Given the description of an element on the screen output the (x, y) to click on. 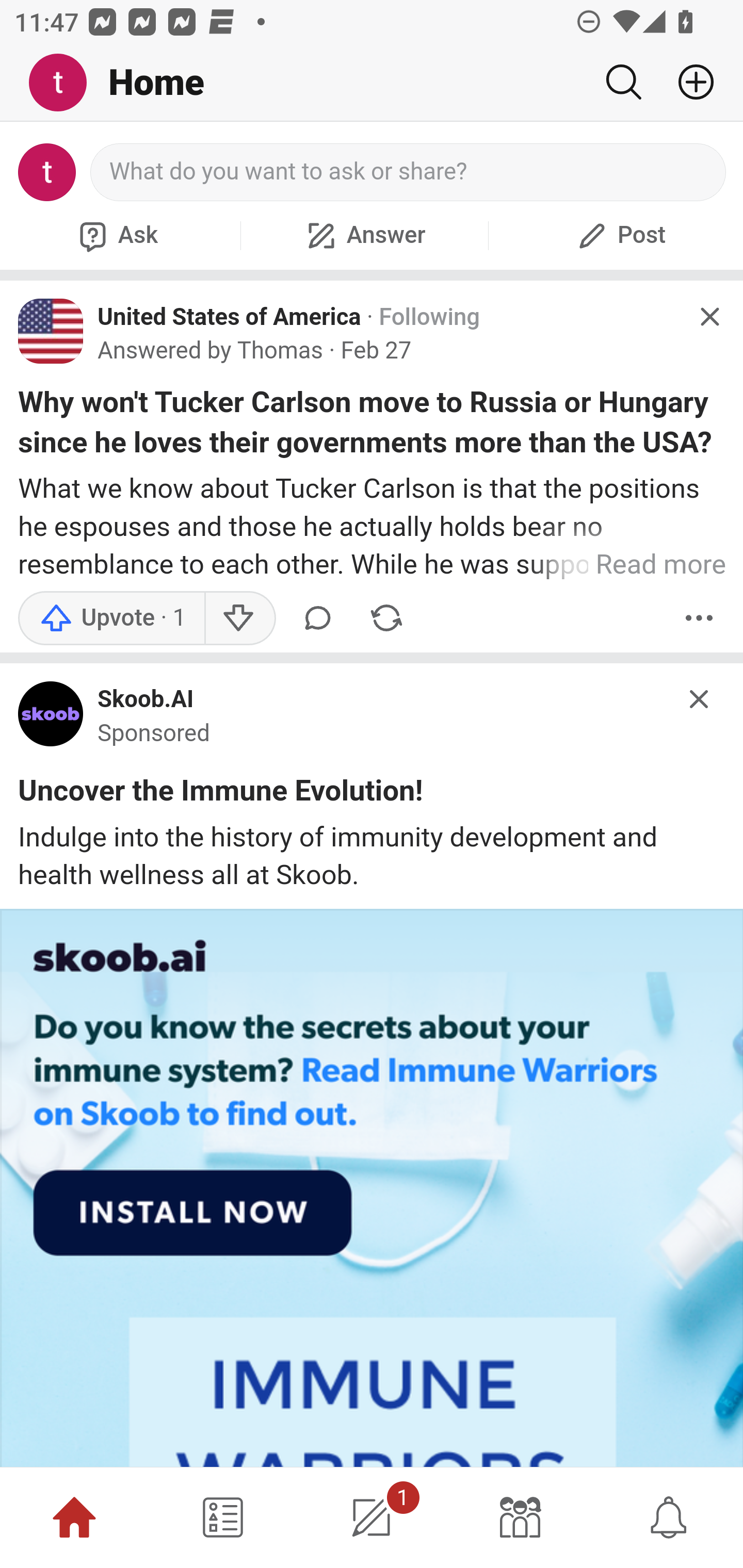
Me (64, 83)
Search (623, 82)
Add (688, 82)
What do you want to ask or share? (408, 172)
Ask (116, 234)
Answer (364, 234)
Post (618, 234)
Hide (709, 316)
Icon for United States of America (50, 330)
United States of America (229, 316)
Following (428, 316)
Upvote (111, 617)
Downvote (238, 617)
Comment (317, 617)
Share (386, 617)
More (699, 617)
Hide (699, 699)
main-qimg-1ebea3e07fd93bdc180c2ff967774d01 (50, 717)
Skoob.AI (145, 700)
Sponsored (154, 733)
Uncover the Immune Evolution! (220, 794)
1 (371, 1517)
